Given the description of an element on the screen output the (x, y) to click on. 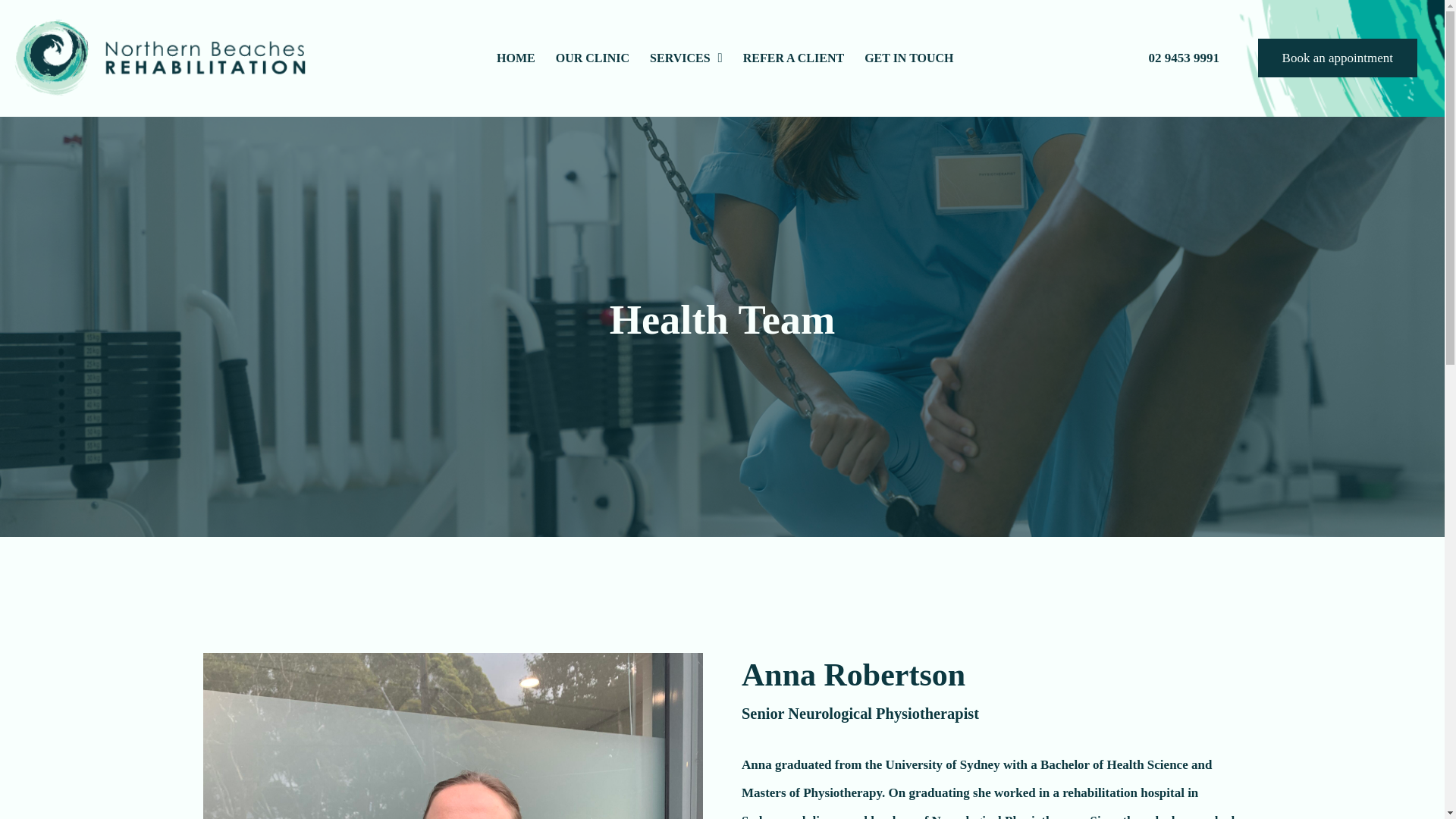
GET IN TOUCH (908, 58)
02 9453 9991 (1183, 58)
Book an appointment (1336, 57)
REFER A CLIENT (792, 58)
